Given the description of an element on the screen output the (x, y) to click on. 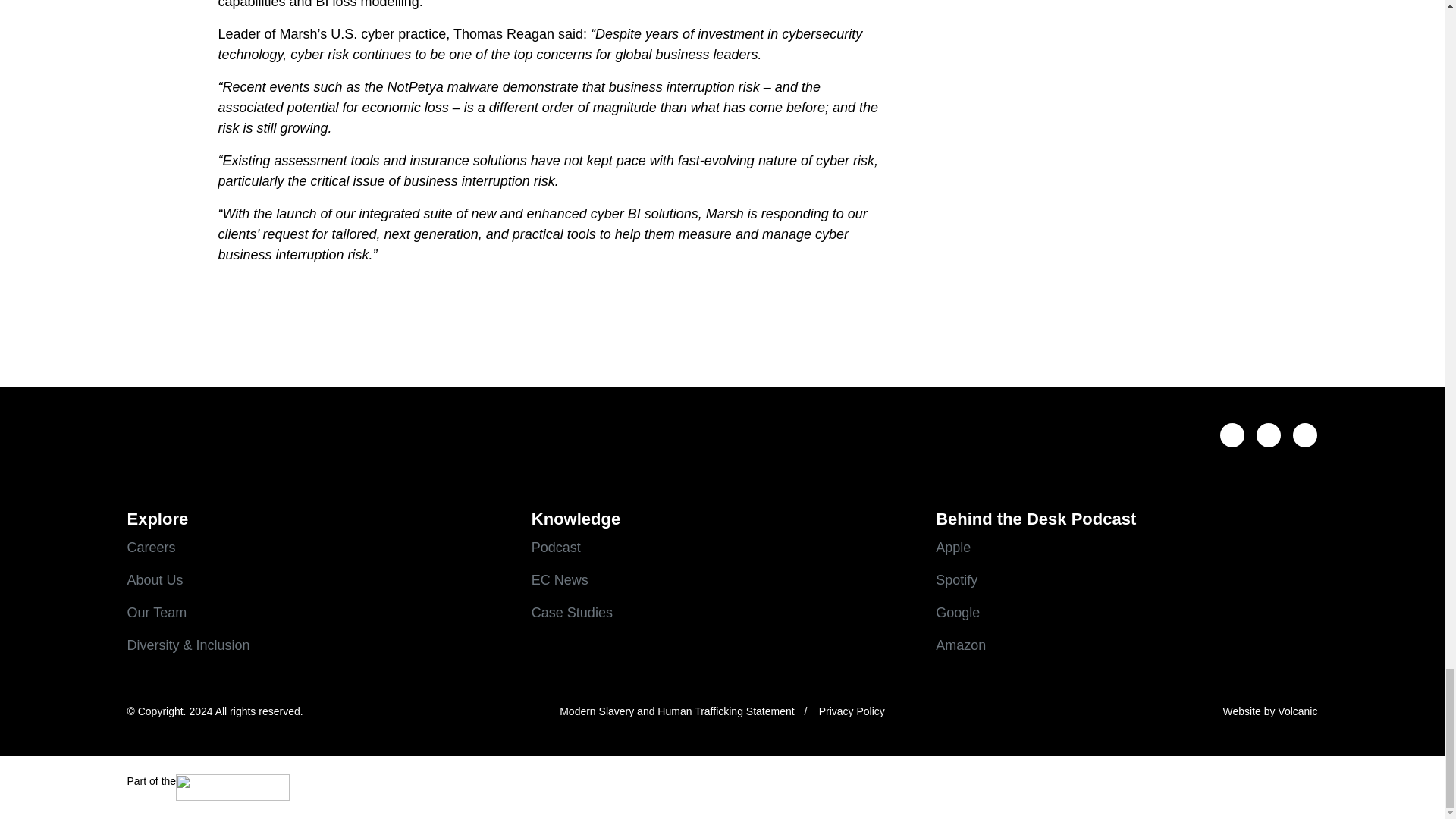
Case Studies (721, 612)
Podcast (721, 547)
Careers (318, 547)
Apple (1126, 547)
Our Team (318, 612)
EC News (721, 580)
Spotify (1126, 580)
About Us (318, 580)
